Given the description of an element on the screen output the (x, y) to click on. 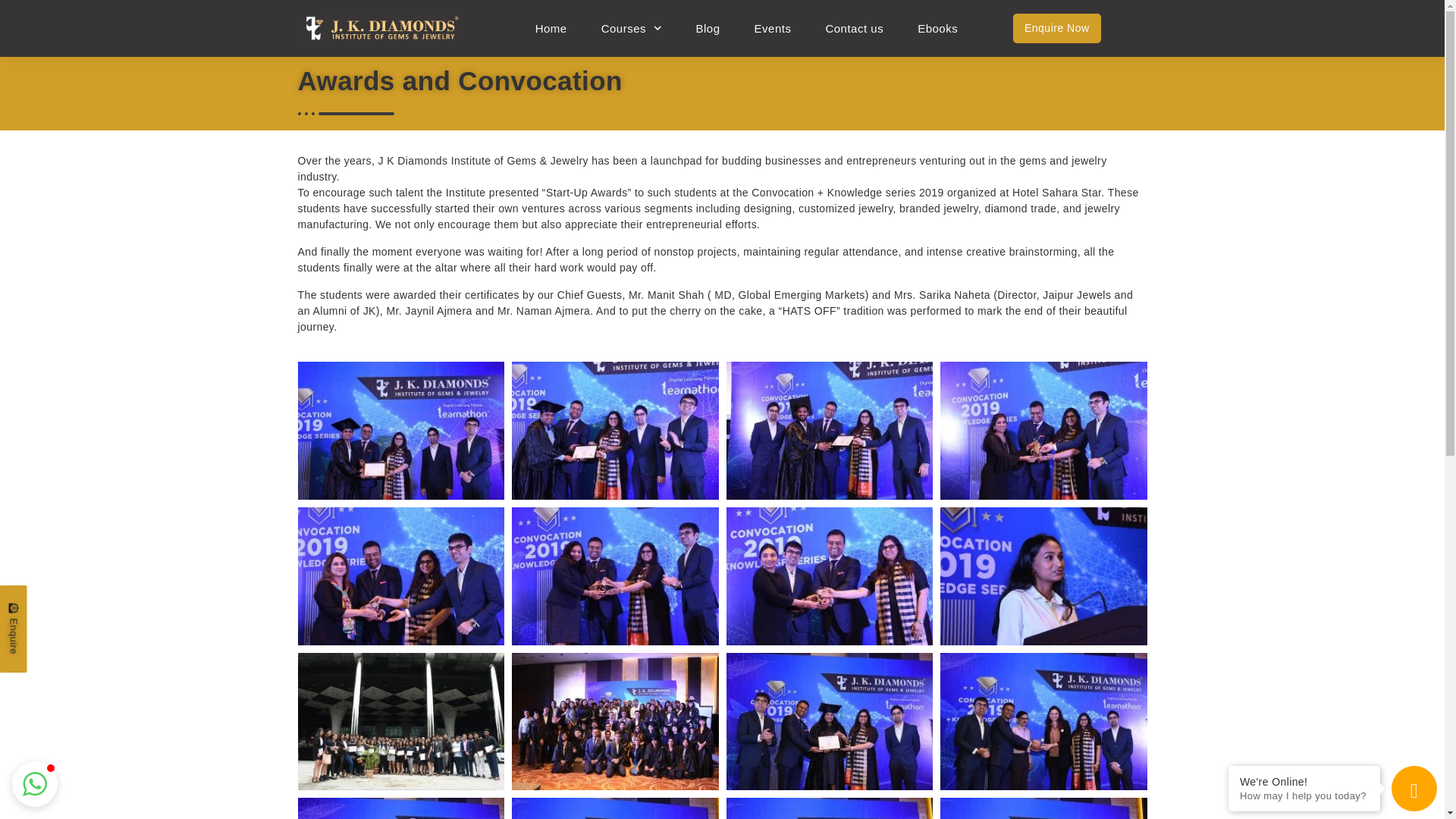
Ebooks (937, 28)
Courses (631, 28)
Events (773, 28)
How may I help you today? (1304, 795)
Enquire Now (1056, 27)
Blog (707, 28)
Contact us (854, 28)
We're Online! (1304, 781)
Home (550, 28)
